Given the description of an element on the screen output the (x, y) to click on. 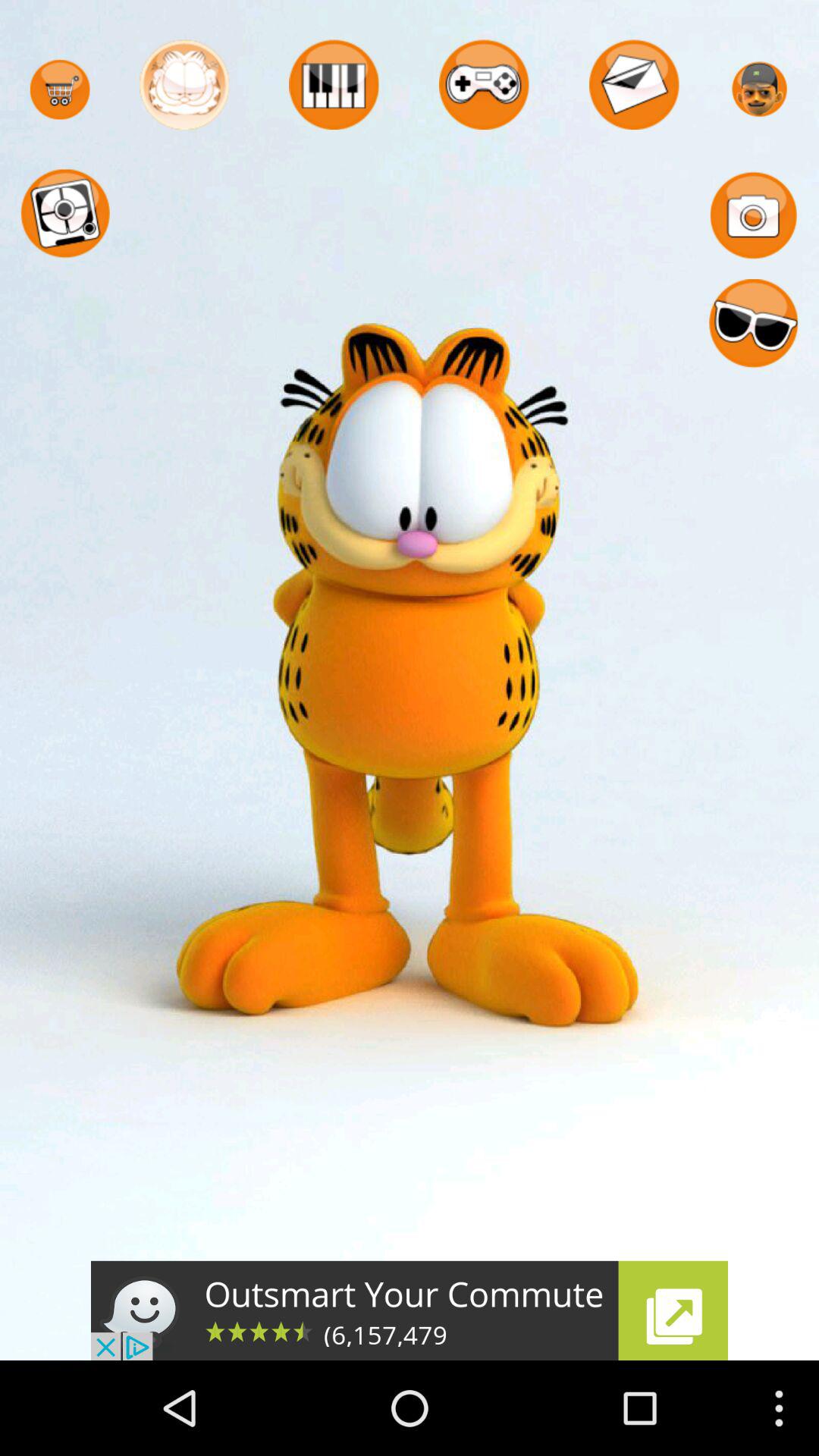
click on icon with piano (333, 84)
click on account above camera logo (759, 89)
click the circle below cart (65, 214)
choose the icon under the camera icon (753, 324)
click on the mail icon bar placed at first row 5th place (633, 84)
click on cart icon (59, 89)
click on camera icon (753, 214)
